Given the description of an element on the screen output the (x, y) to click on. 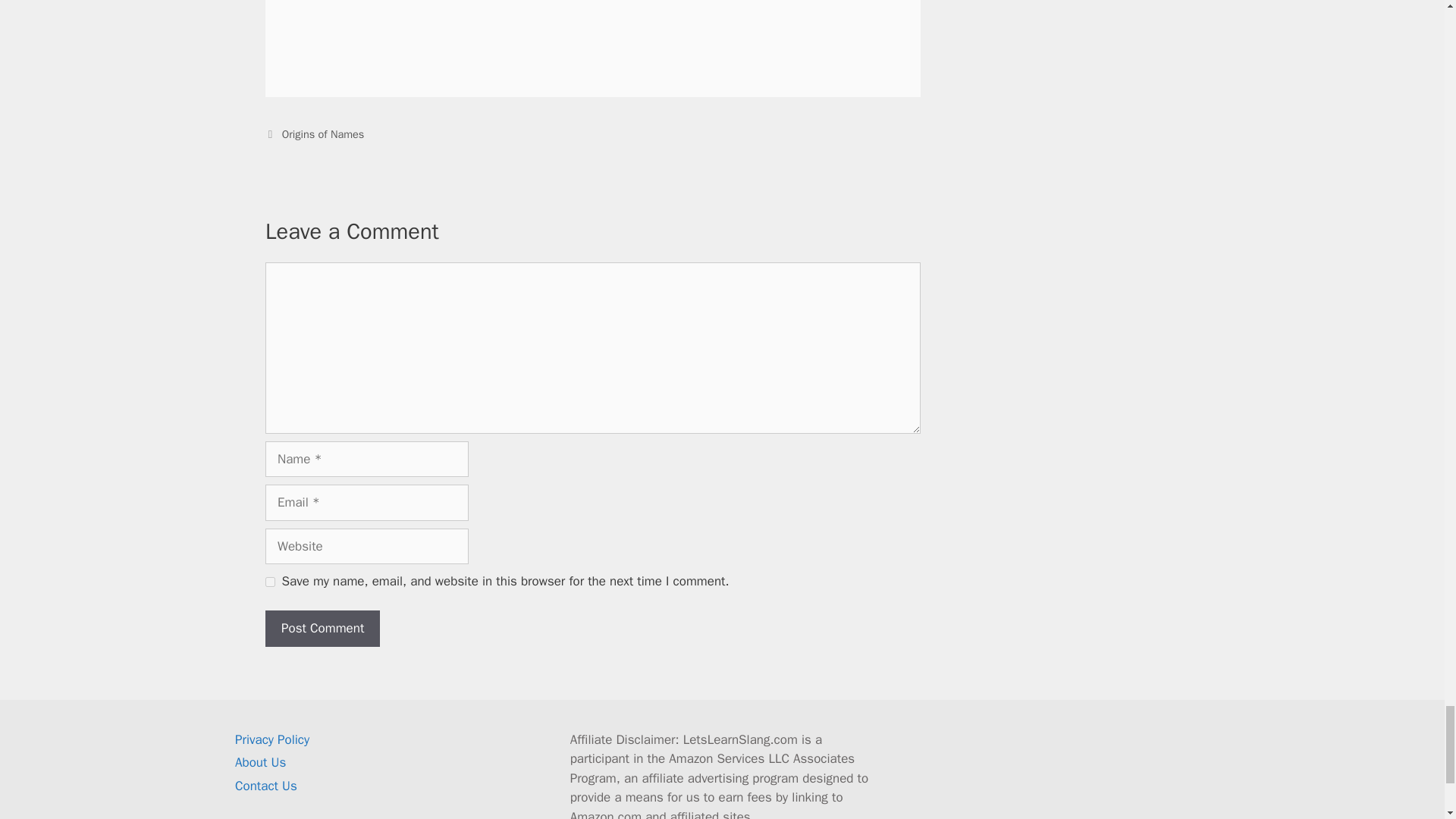
yes (269, 582)
Post Comment (322, 628)
